Given the description of an element on the screen output the (x, y) to click on. 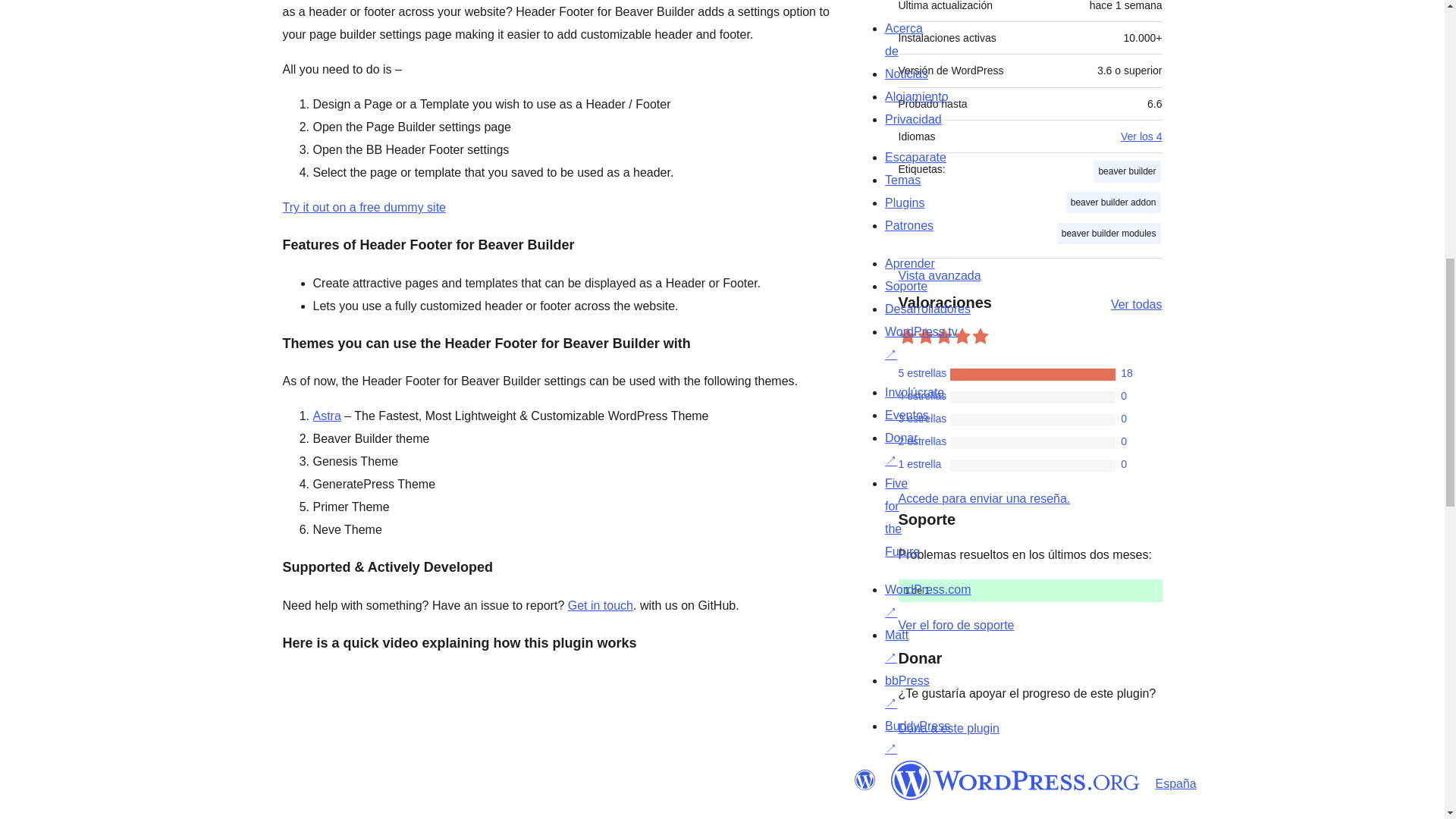
WordPress.org (1014, 780)
WordPress.org (864, 780)
Acceder a WordPress.org (984, 498)
Header Footer for Beaver Builder on GitHub (600, 604)
